Given the description of an element on the screen output the (x, y) to click on. 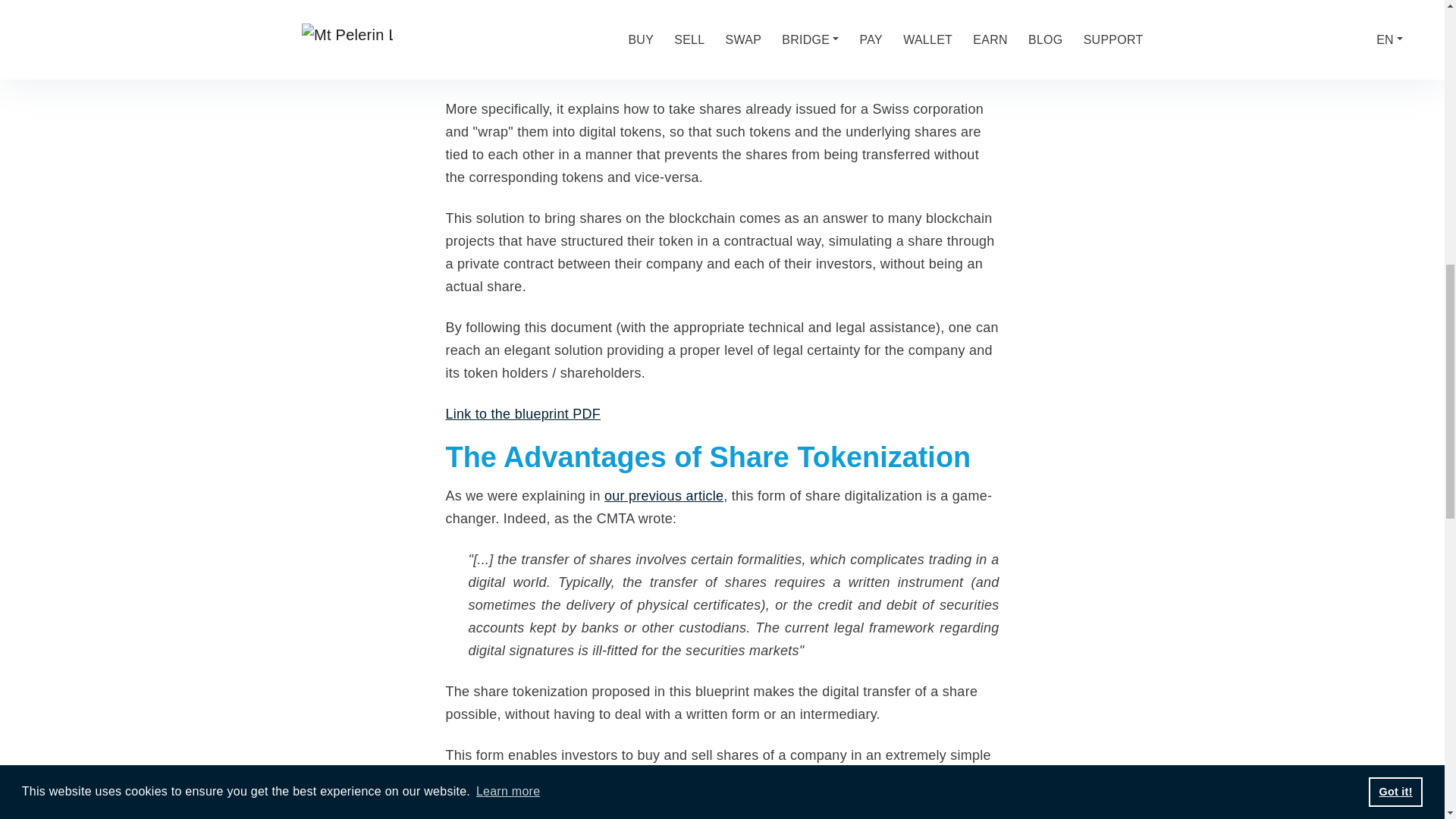
our previous article (663, 495)
Link to the blueprint PDF (523, 413)
